Given the description of an element on the screen output the (x, y) to click on. 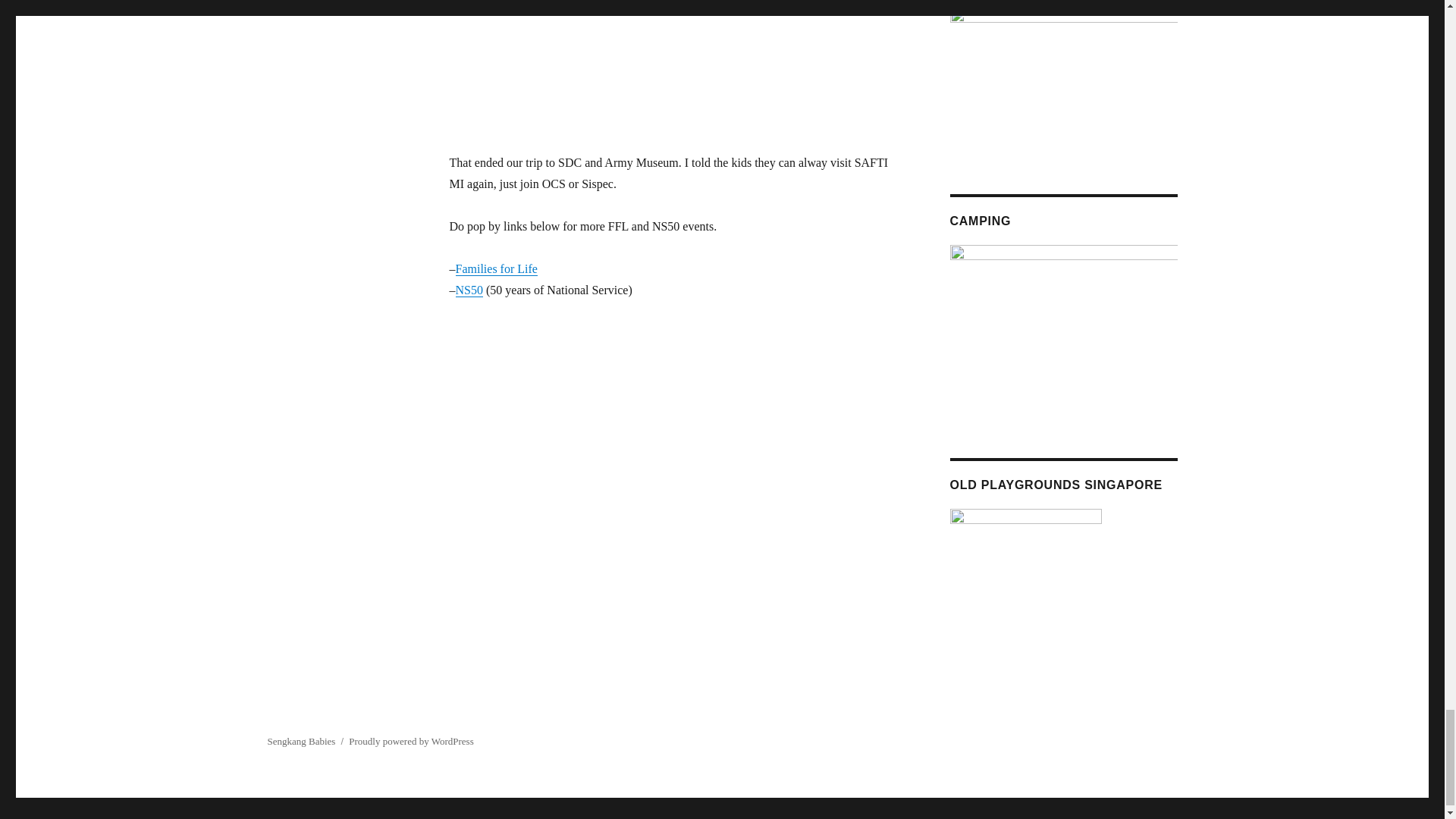
Families for Life (495, 268)
NS50 (467, 289)
playground memories (1024, 575)
